Given the description of an element on the screen output the (x, y) to click on. 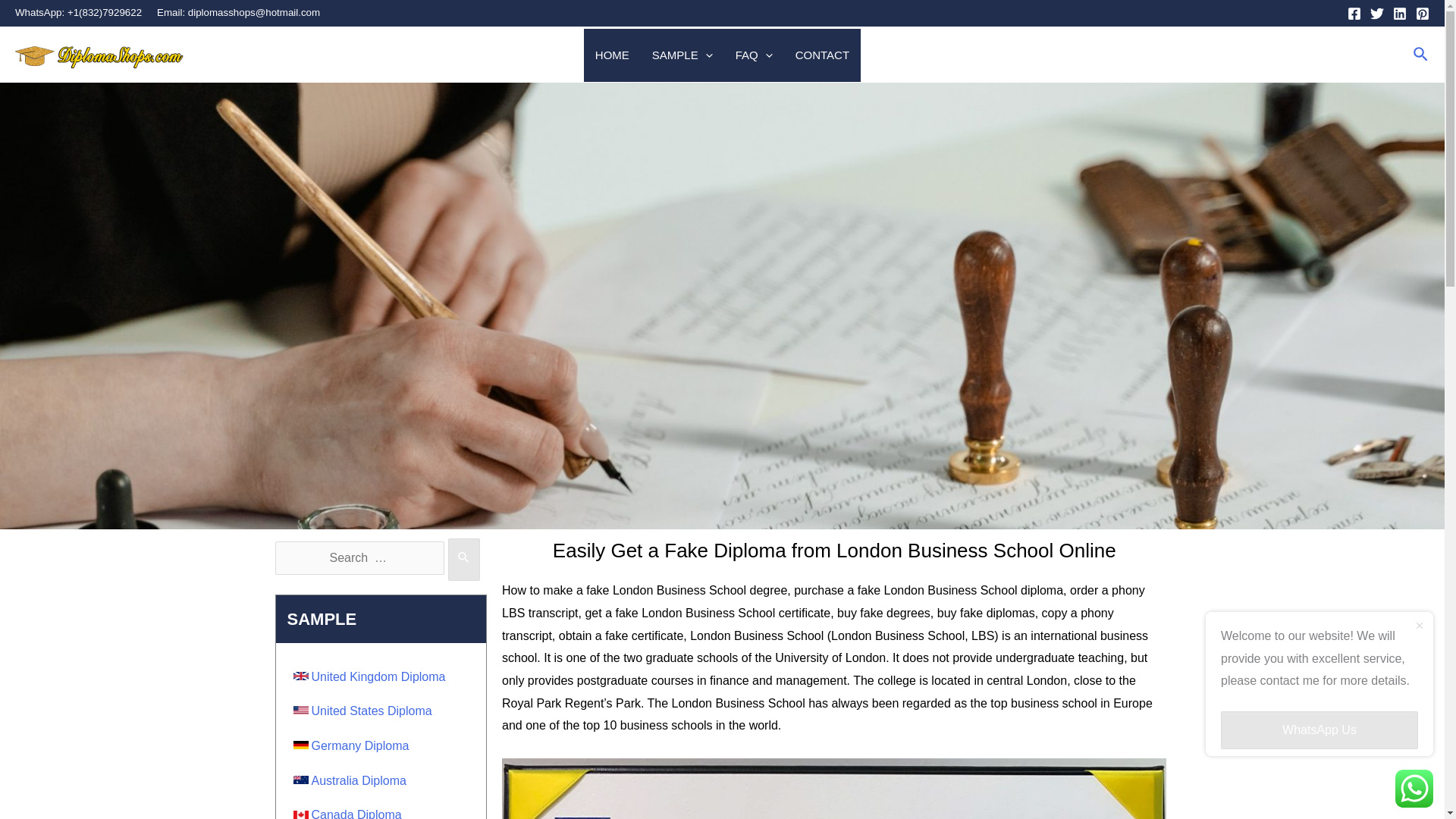
HOME (611, 54)
SAMPLE (681, 54)
CONTACT (822, 54)
London Business School fake Degree certificate (834, 788)
rrr (104, 54)
FAQ (753, 54)
